Given the description of an element on the screen output the (x, y) to click on. 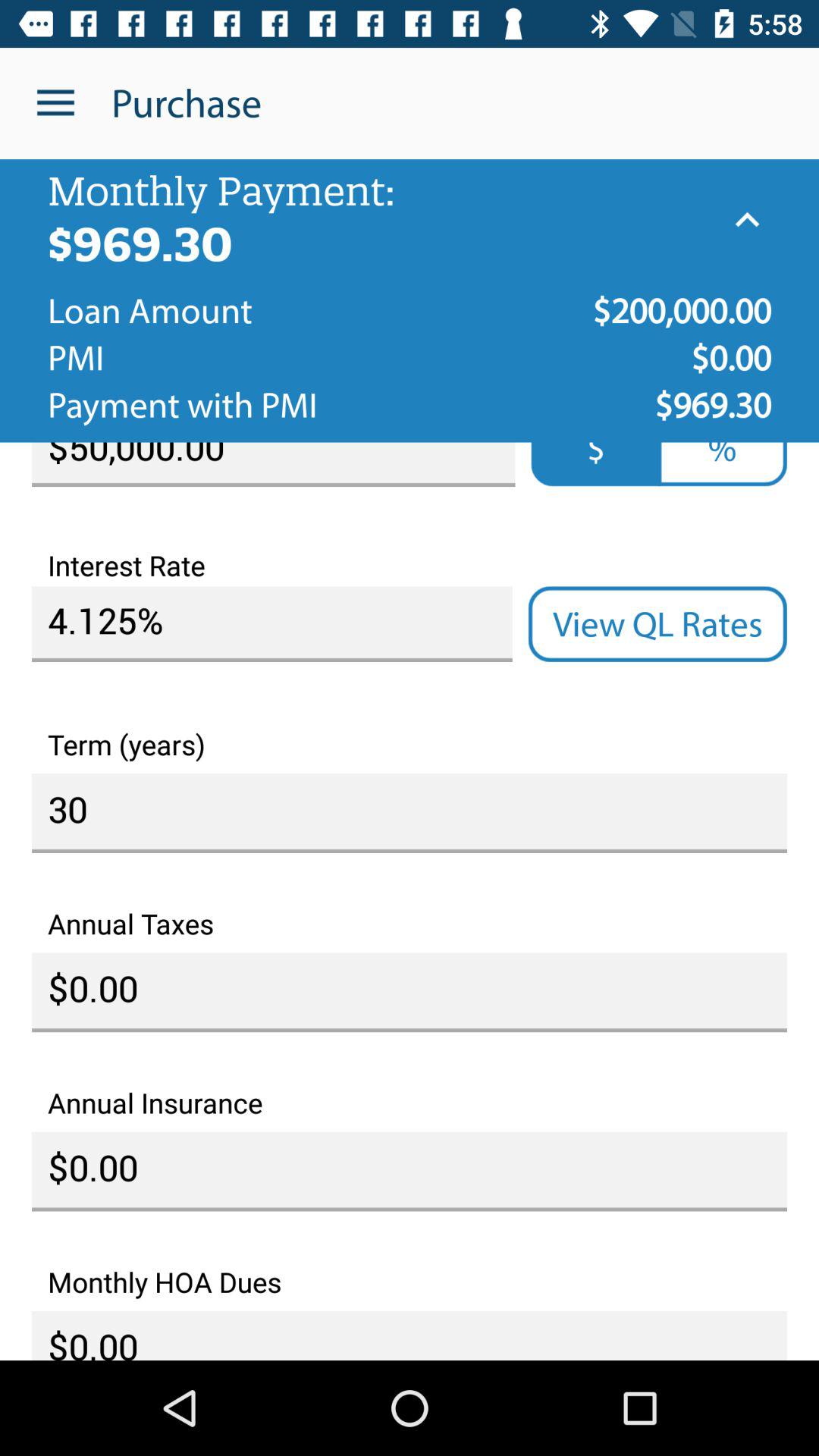
select the item to the right of 4.125% icon (657, 624)
